Given the description of an element on the screen output the (x, y) to click on. 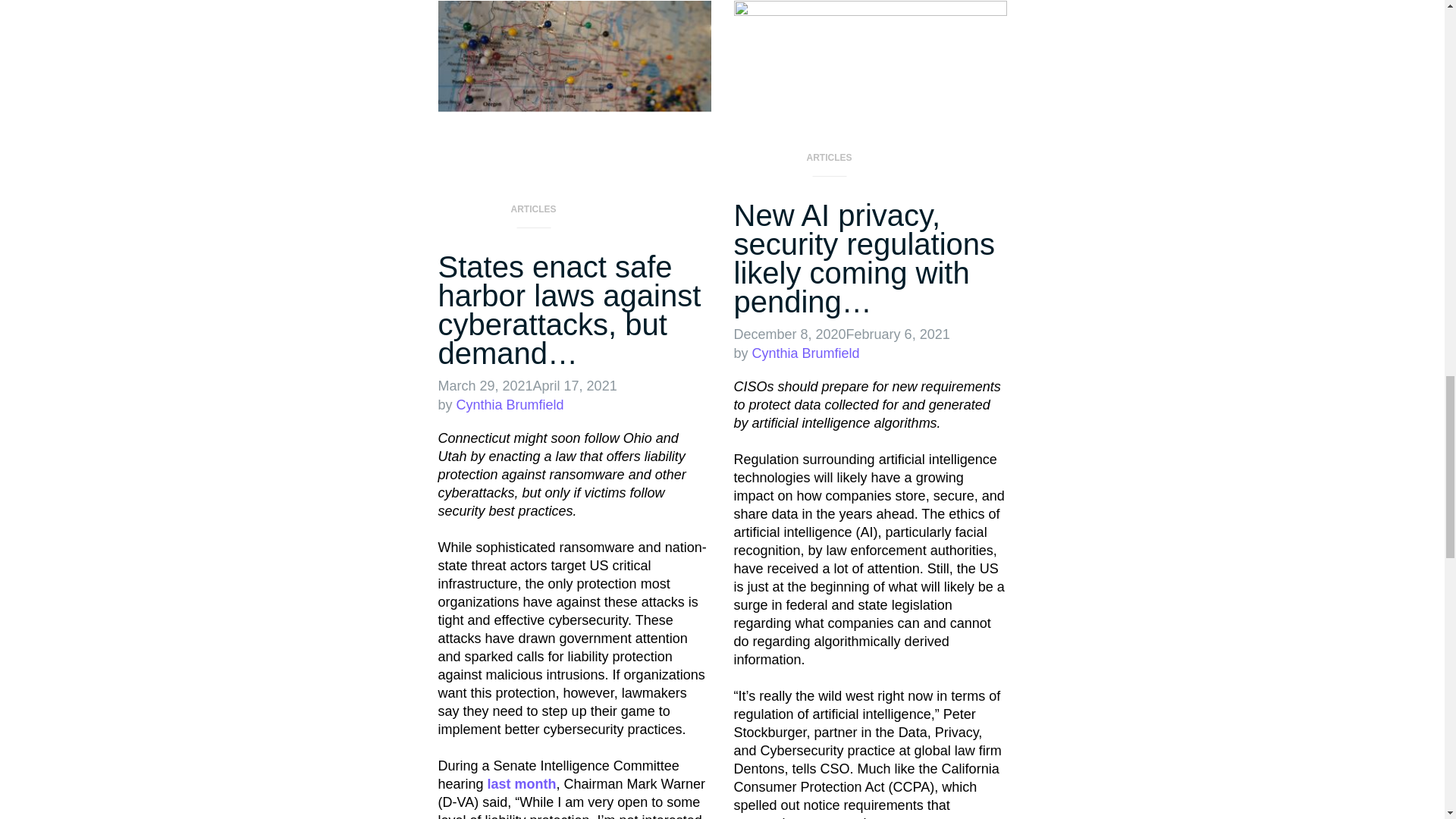
ARTICLES (533, 213)
Cynthia Brumfield (510, 404)
Cynthia Brumfield (806, 353)
